Given the description of an element on the screen output the (x, y) to click on. 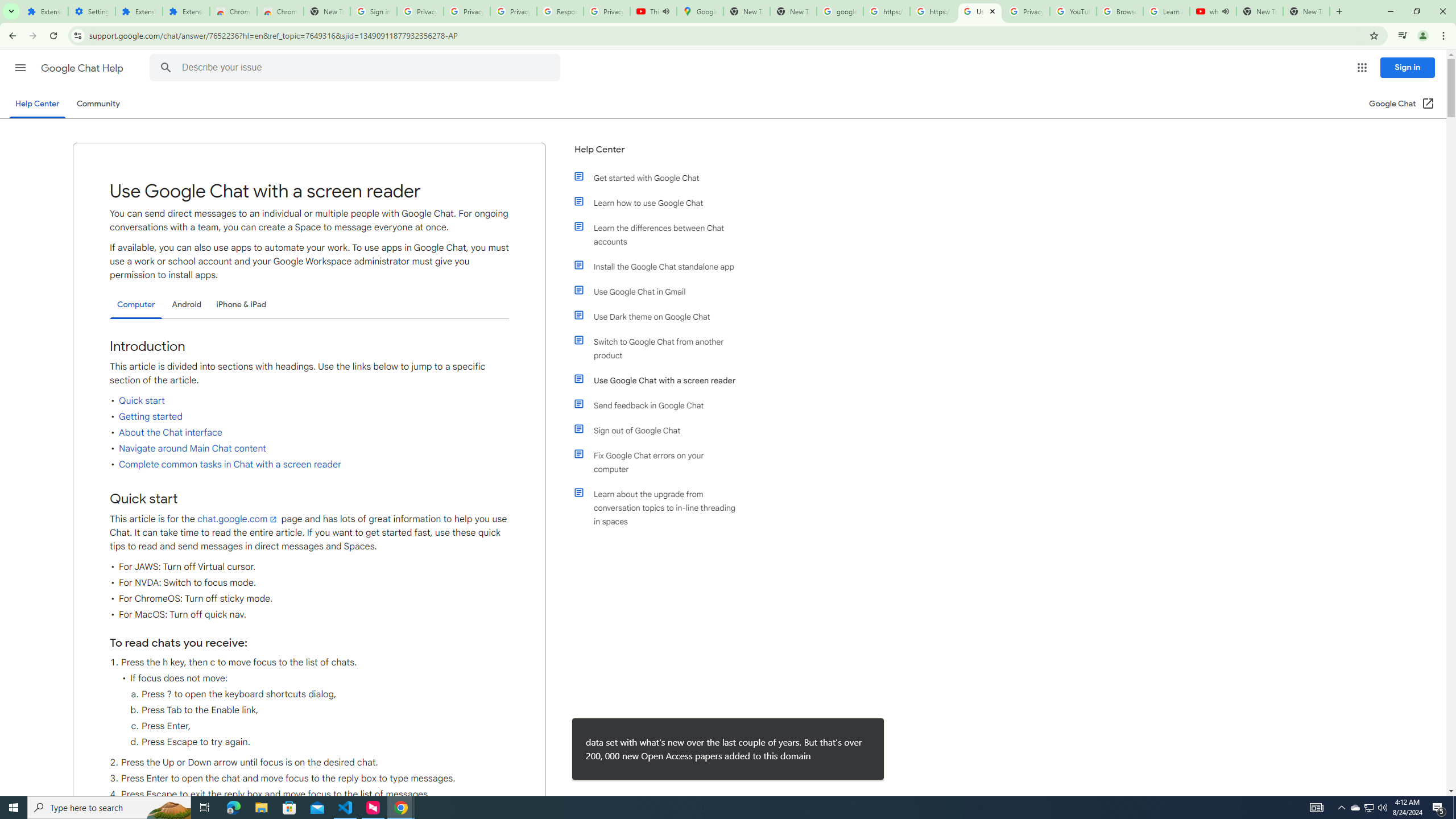
Computer (136, 305)
Google Chat (Open in a new window) (1401, 103)
Learn the differences between Chat accounts (661, 234)
Chrome Web Store - Themes (279, 11)
Google Maps (699, 11)
Android (186, 304)
Complete common tasks in Chat with a screen reader (230, 464)
YouTube (1073, 11)
